Given the description of an element on the screen output the (x, y) to click on. 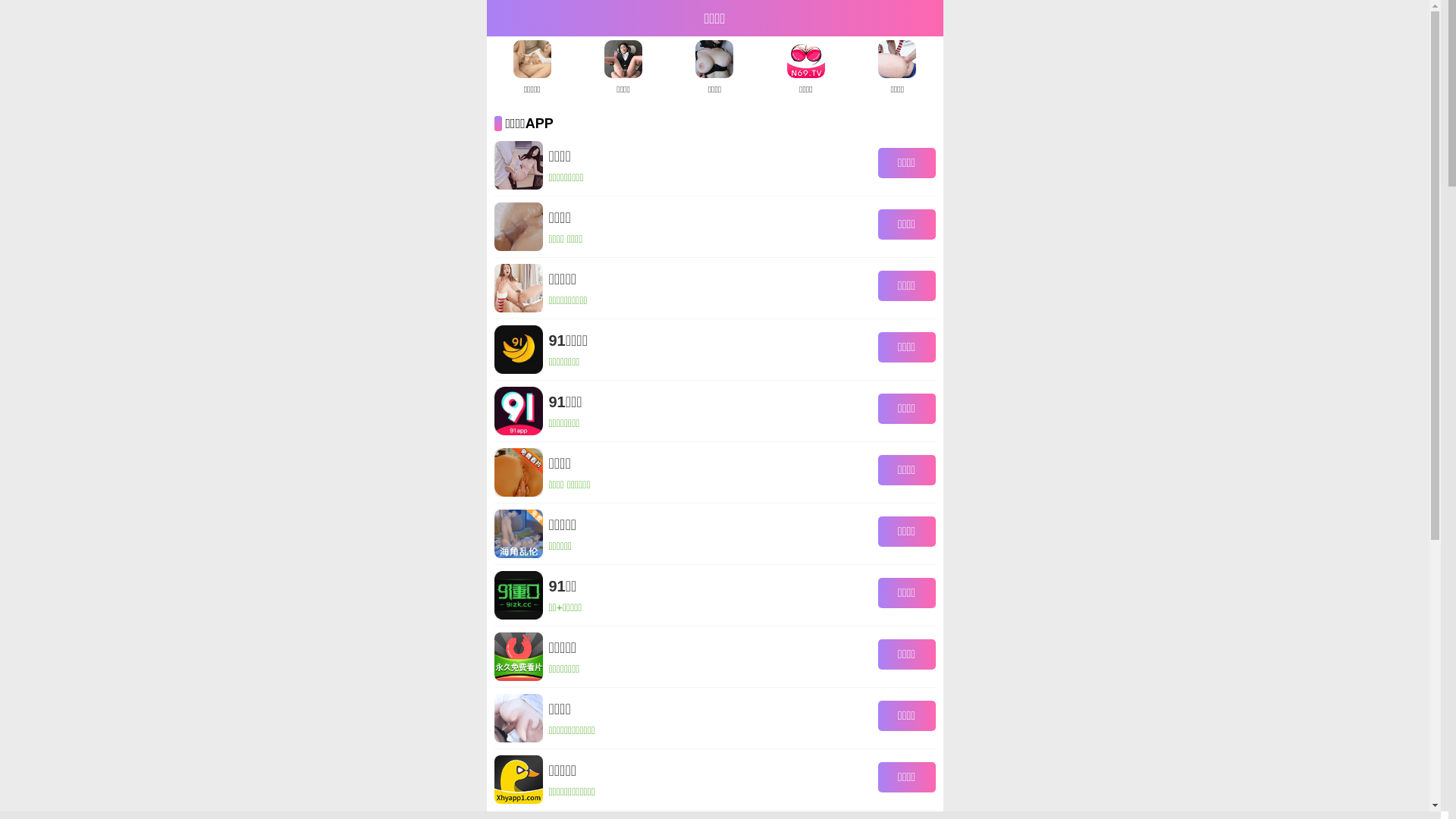
0792-8321553 Element type: text (1400, 383)
